Given the description of an element on the screen output the (x, y) to click on. 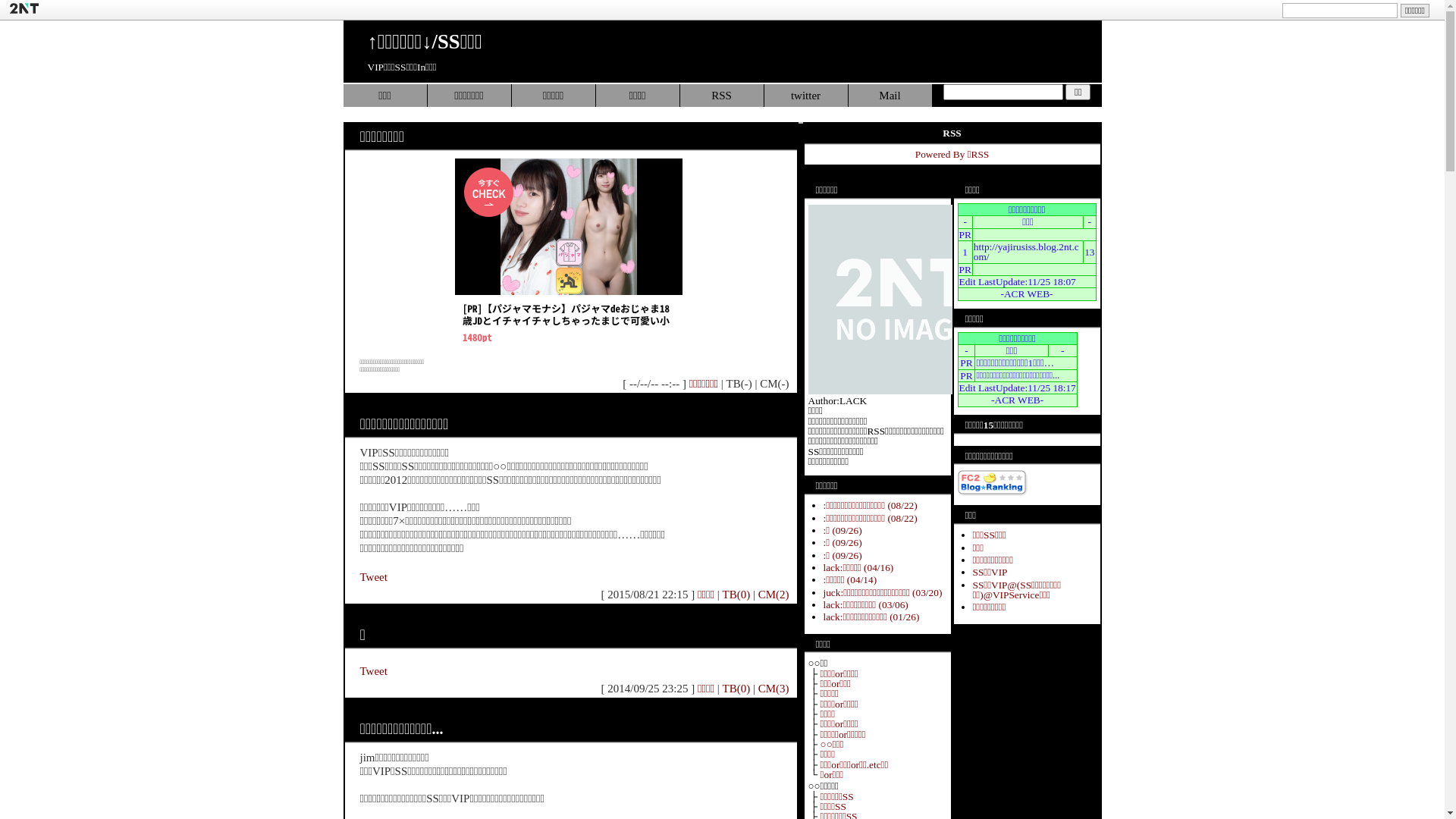
TB(0) Element type: text (736, 594)
twitter Element type: text (806, 95)
RSS Element type: text (721, 95)
ACR WEB Element type: text (1026, 293)
TB(0) Element type: text (736, 688)
CM(2) Element type: text (773, 594)
CM(3) Element type: text (773, 688)
ACR WEB Element type: text (1017, 399)
http://yajirusiss.blog.2nt.com/ Element type: text (1026, 251)
Tweet Element type: text (372, 577)
Edit Element type: text (966, 387)
Edit Element type: text (966, 281)
Mail Element type: text (889, 95)
Tweet Element type: text (372, 671)
